Given the description of an element on the screen output the (x, y) to click on. 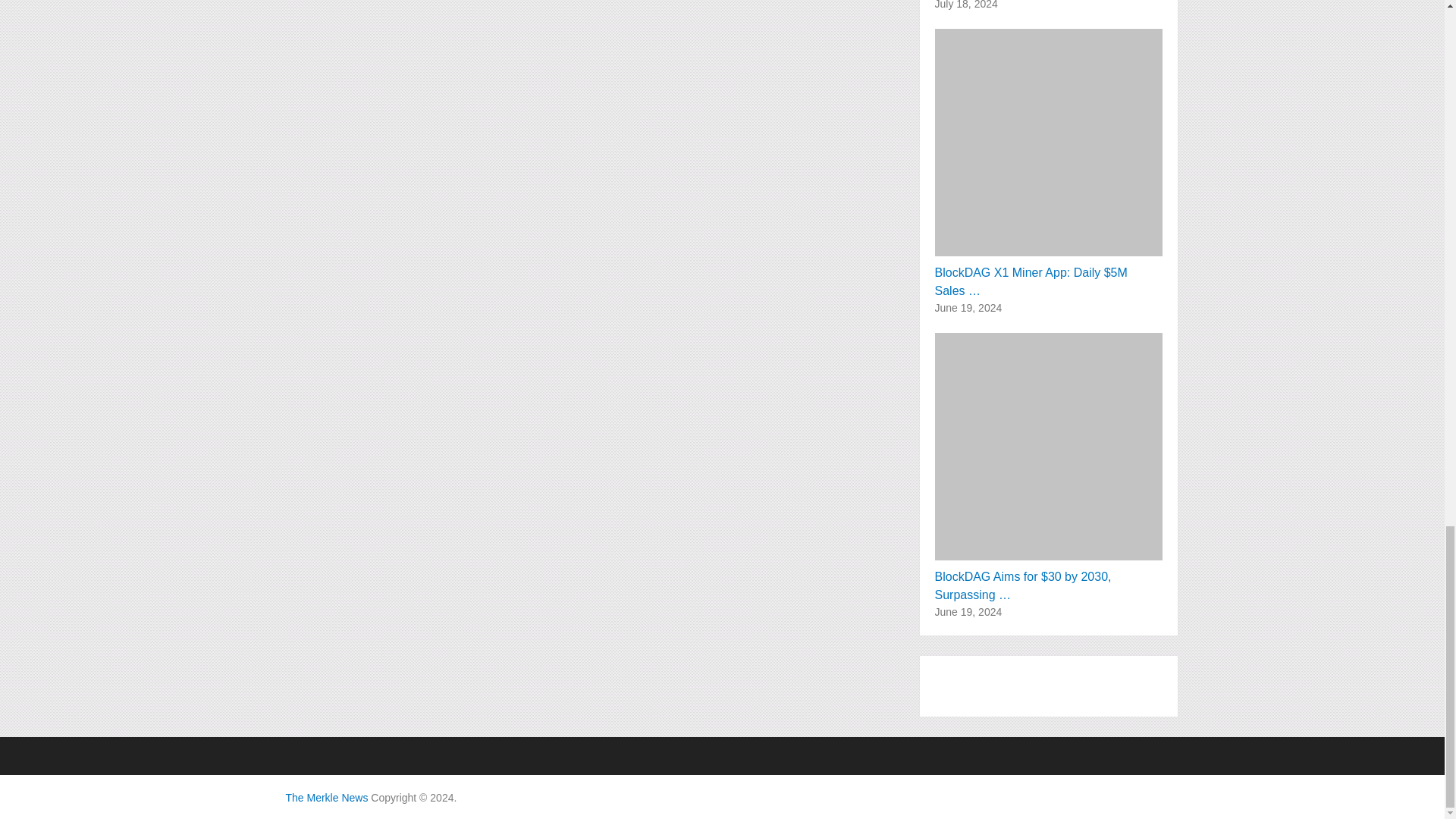
The Merkle News (326, 797)
